Given the description of an element on the screen output the (x, y) to click on. 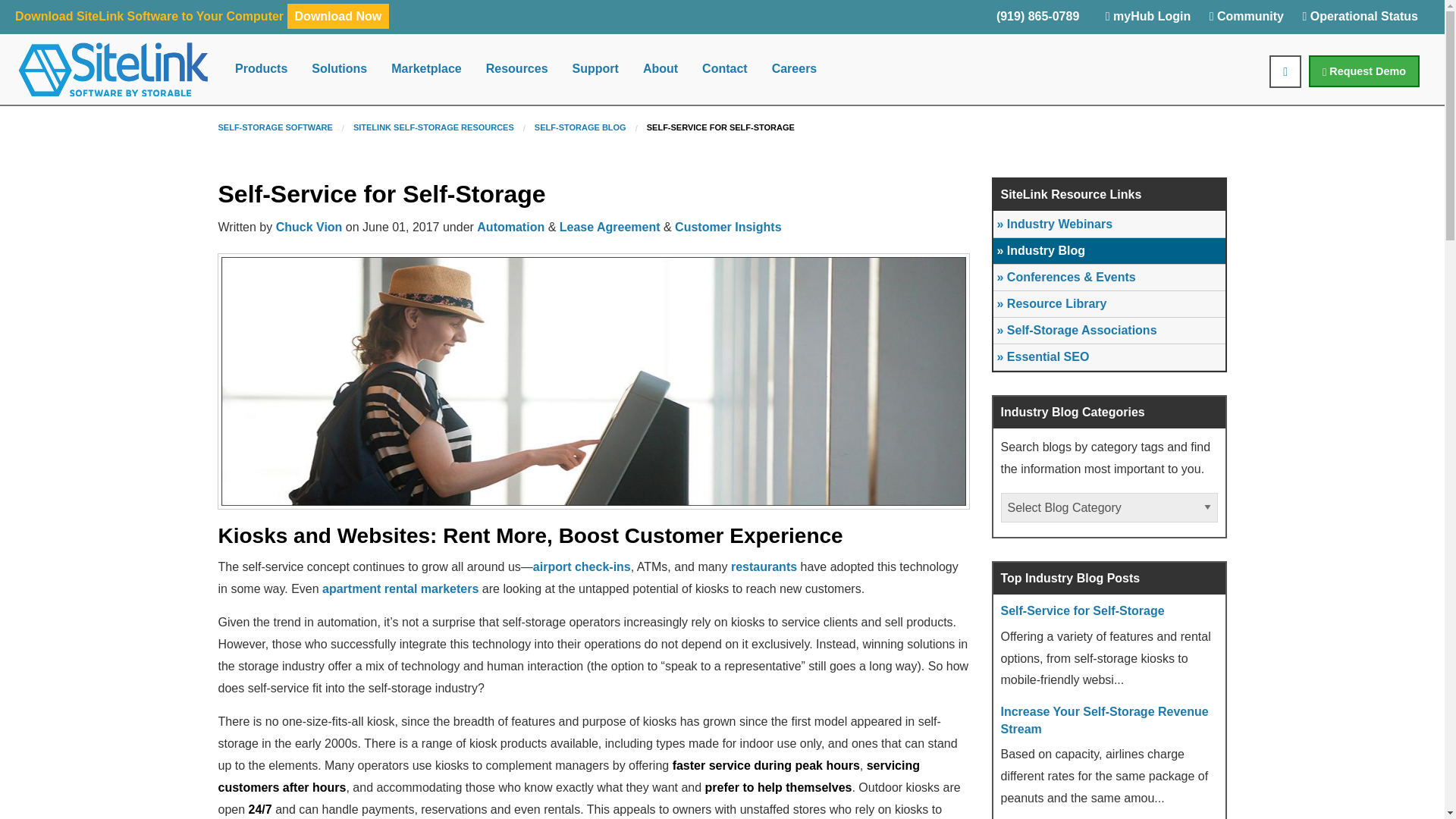
Products (260, 68)
myHub Login (1147, 19)
Support (595, 68)
Solutions (338, 68)
Operational Status (1359, 19)
Community (1246, 19)
Marketplace (426, 68)
Download Now (338, 16)
Resources (517, 68)
